Given the description of an element on the screen output the (x, y) to click on. 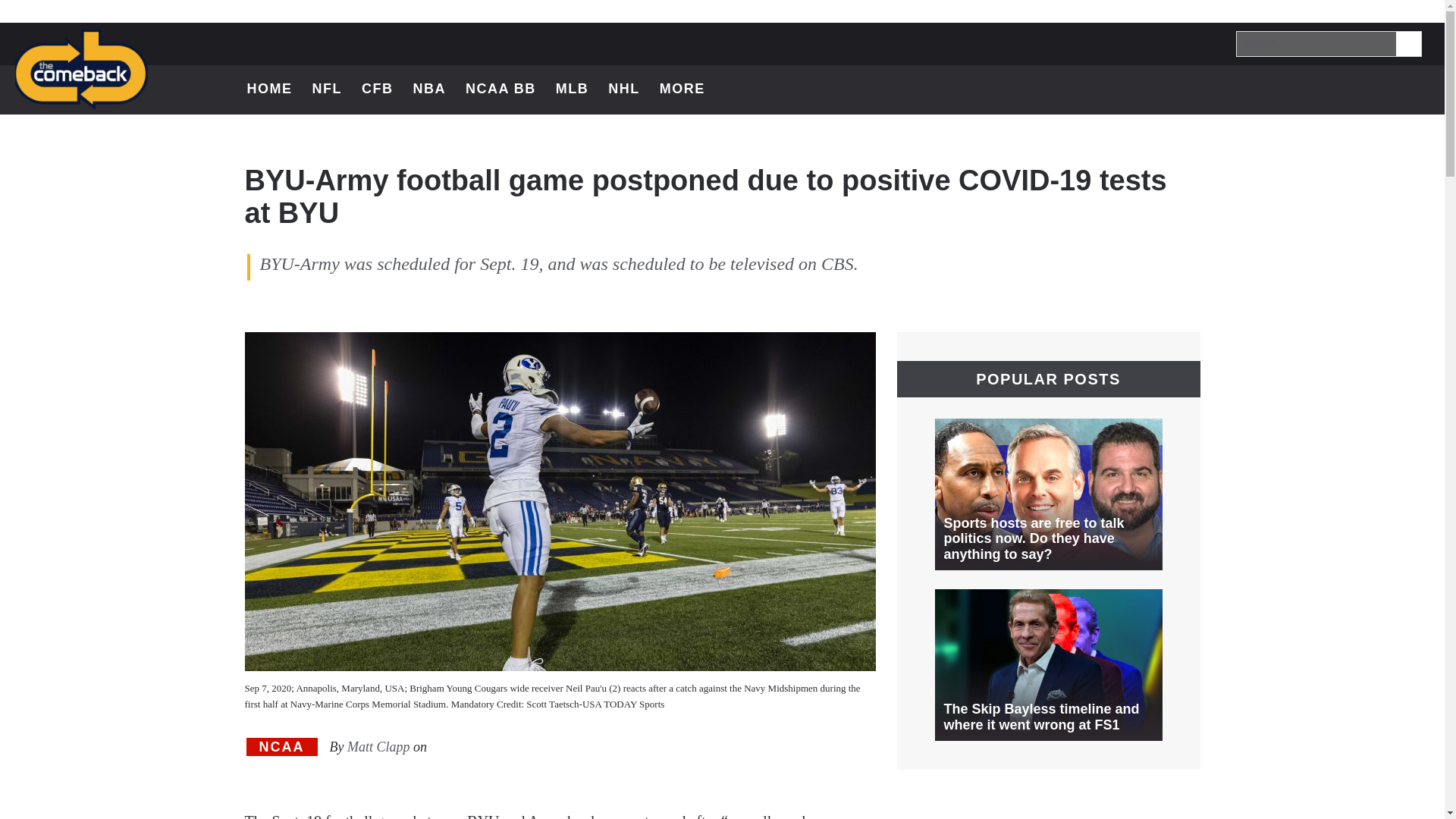
SEARCH (1407, 42)
Link to RSS (1414, 89)
NBA (428, 89)
HOME (269, 89)
NCAA (281, 746)
Link to Twitter (1296, 89)
View all posts in NCAA (281, 746)
NHL (624, 89)
MORE (689, 89)
